Given the description of an element on the screen output the (x, y) to click on. 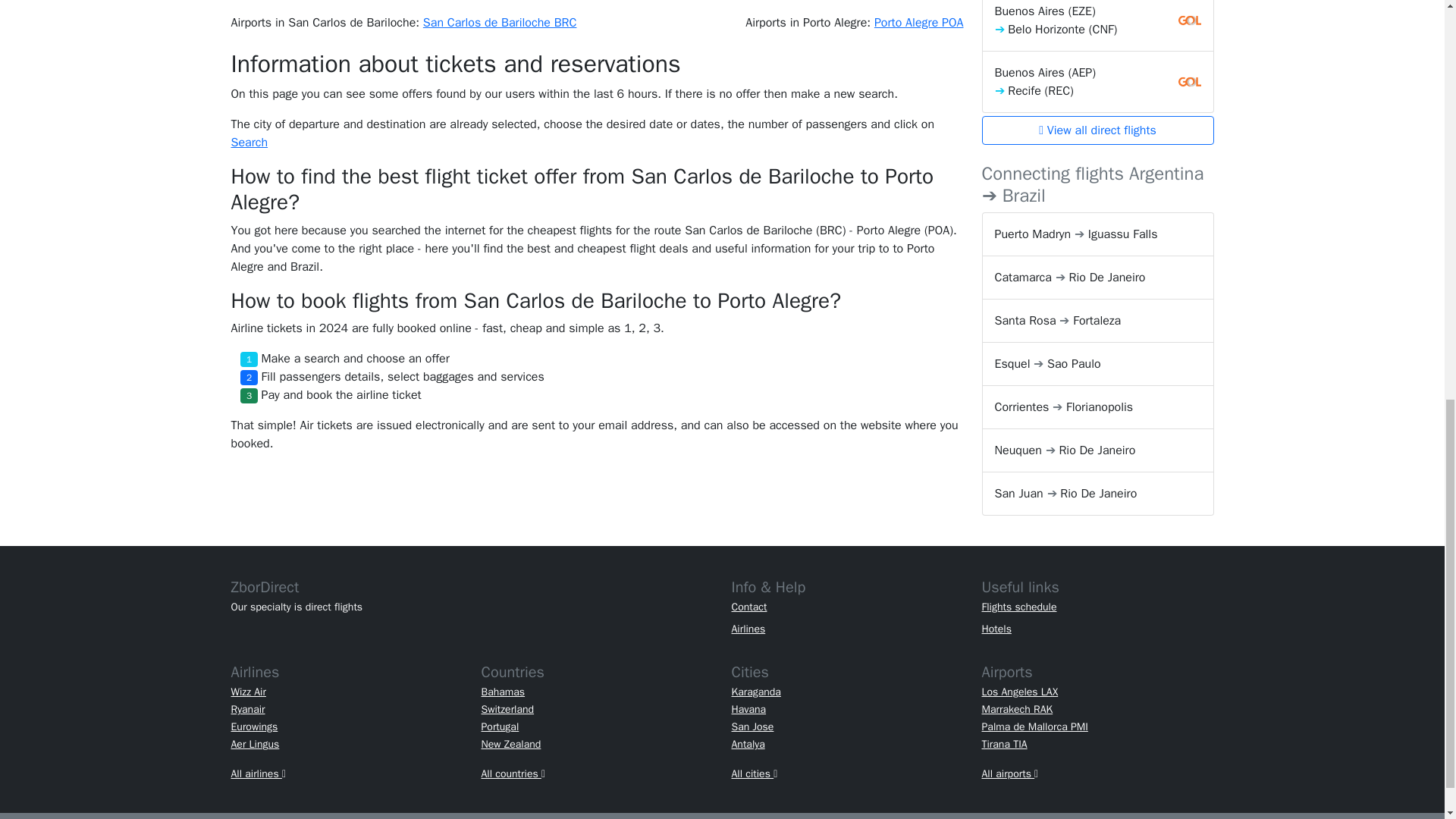
Buenos-aires - Recife (1096, 82)
Contact (748, 606)
Hotels (995, 628)
San Carlos de Bariloche BRC (499, 22)
Flights schedule (1019, 606)
Buenos-aires - Belo-horizonte (1096, 25)
Airlines (747, 628)
